Given the description of an element on the screen output the (x, y) to click on. 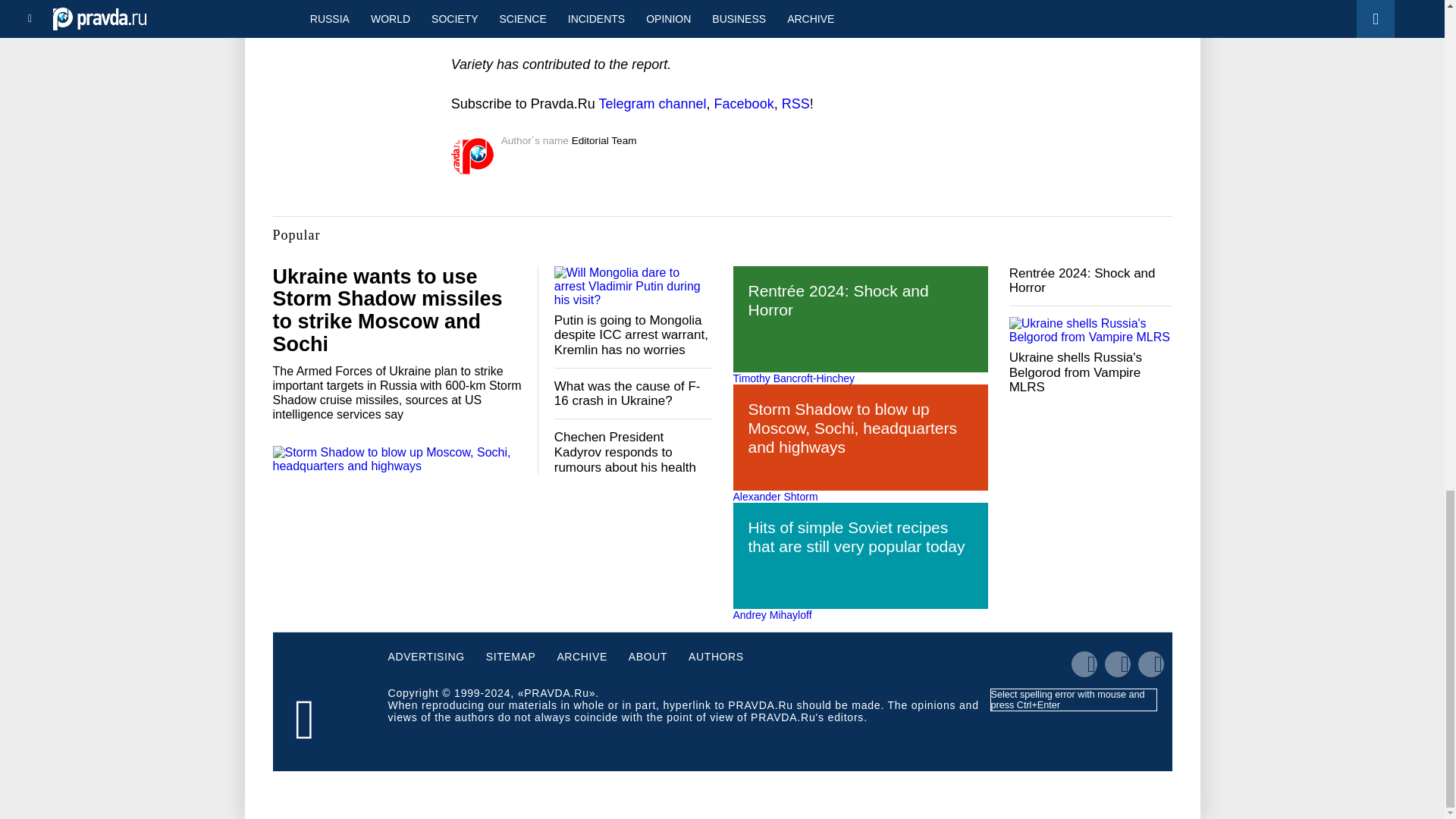
RSS (795, 103)
Editorial Team (604, 140)
Telegram channel (652, 103)
Facebook (744, 103)
